Given the description of an element on the screen output the (x, y) to click on. 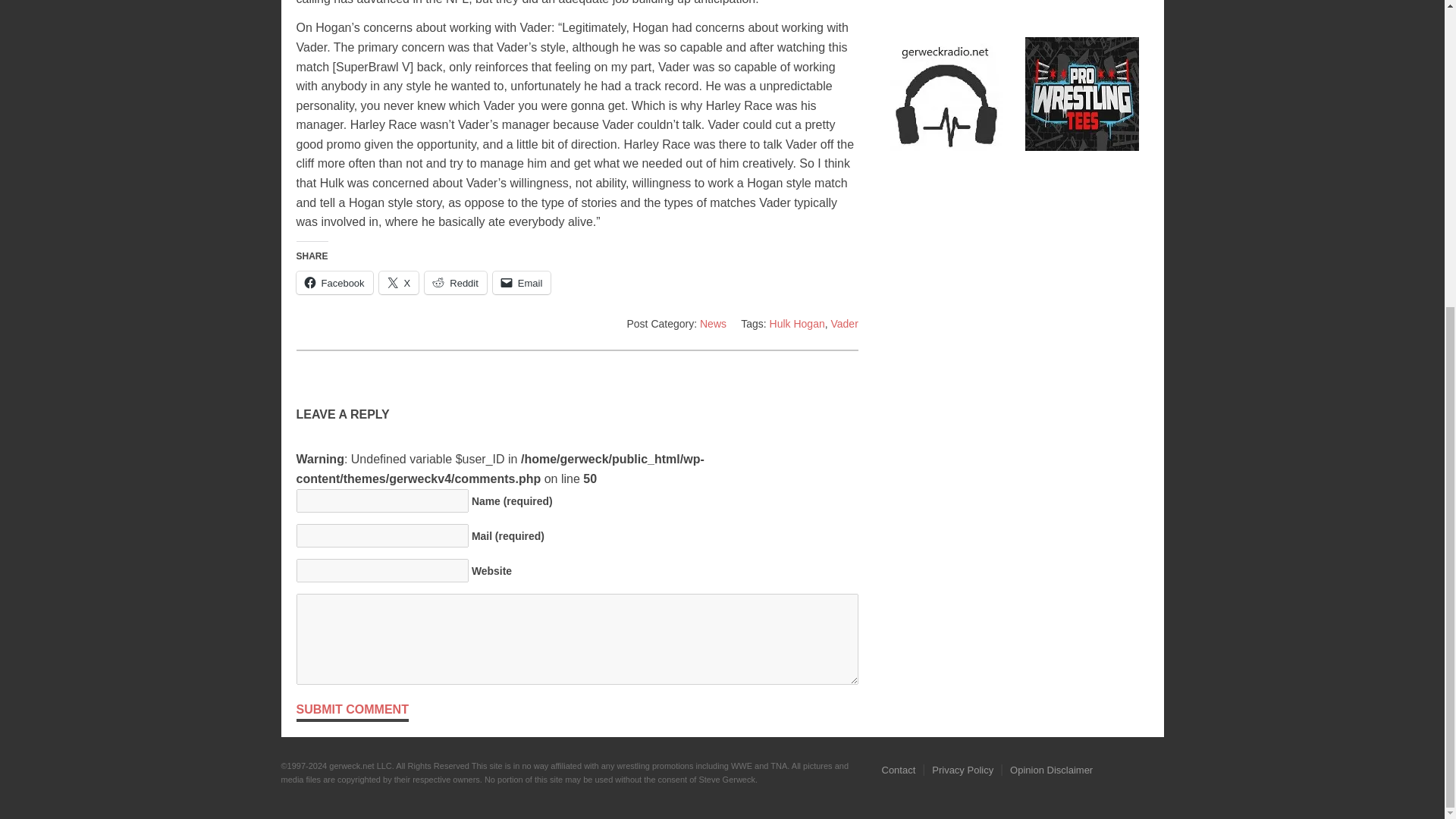
Click to share on Facebook (333, 282)
Click to email a link to a friend (522, 282)
Click to share on X (398, 282)
Submit Comment (351, 711)
Click to share on Reddit (455, 282)
